Given the description of an element on the screen output the (x, y) to click on. 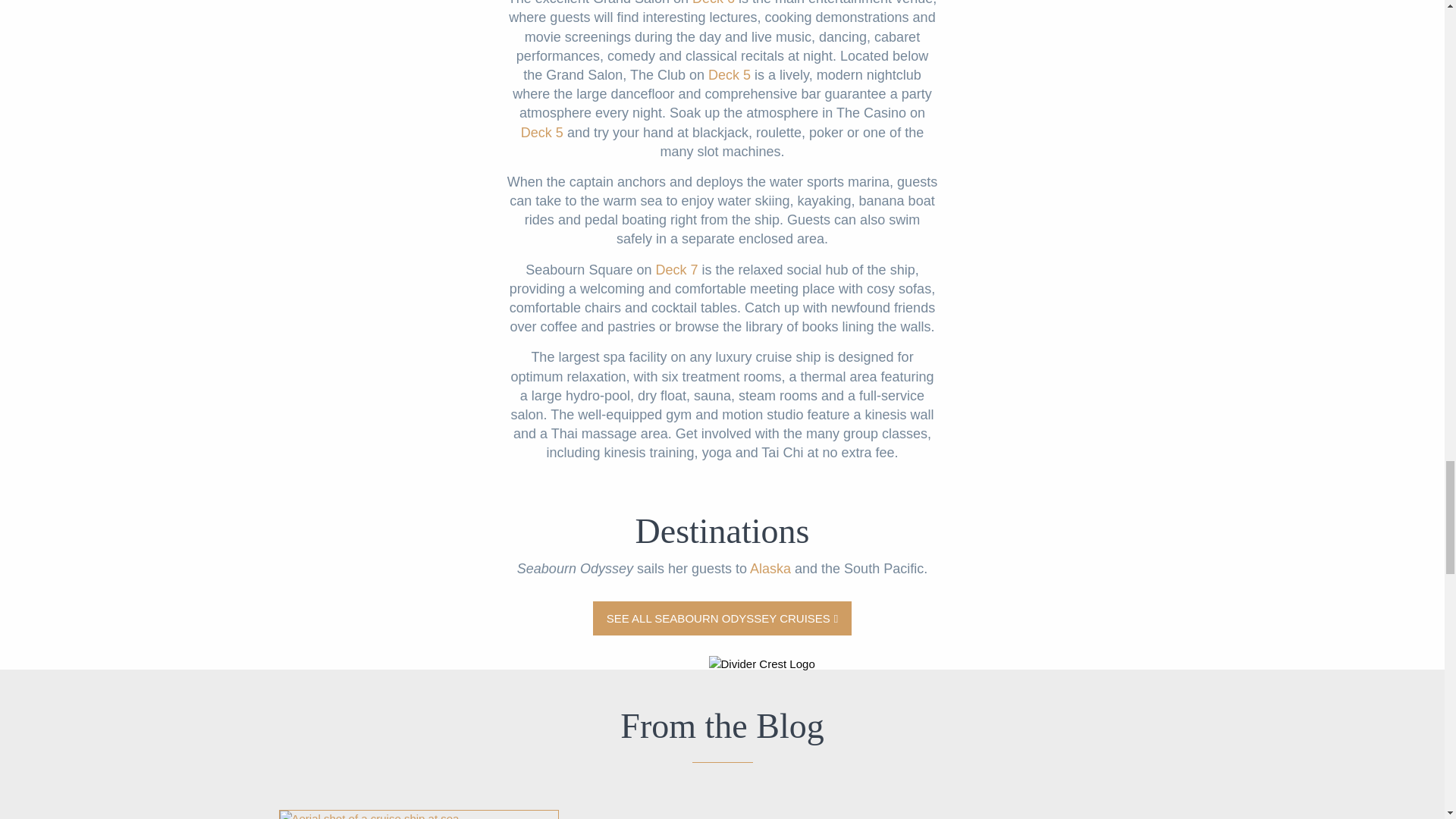
Which cruise ships have accessible cabins? (418, 814)
